Given the description of an element on the screen output the (x, y) to click on. 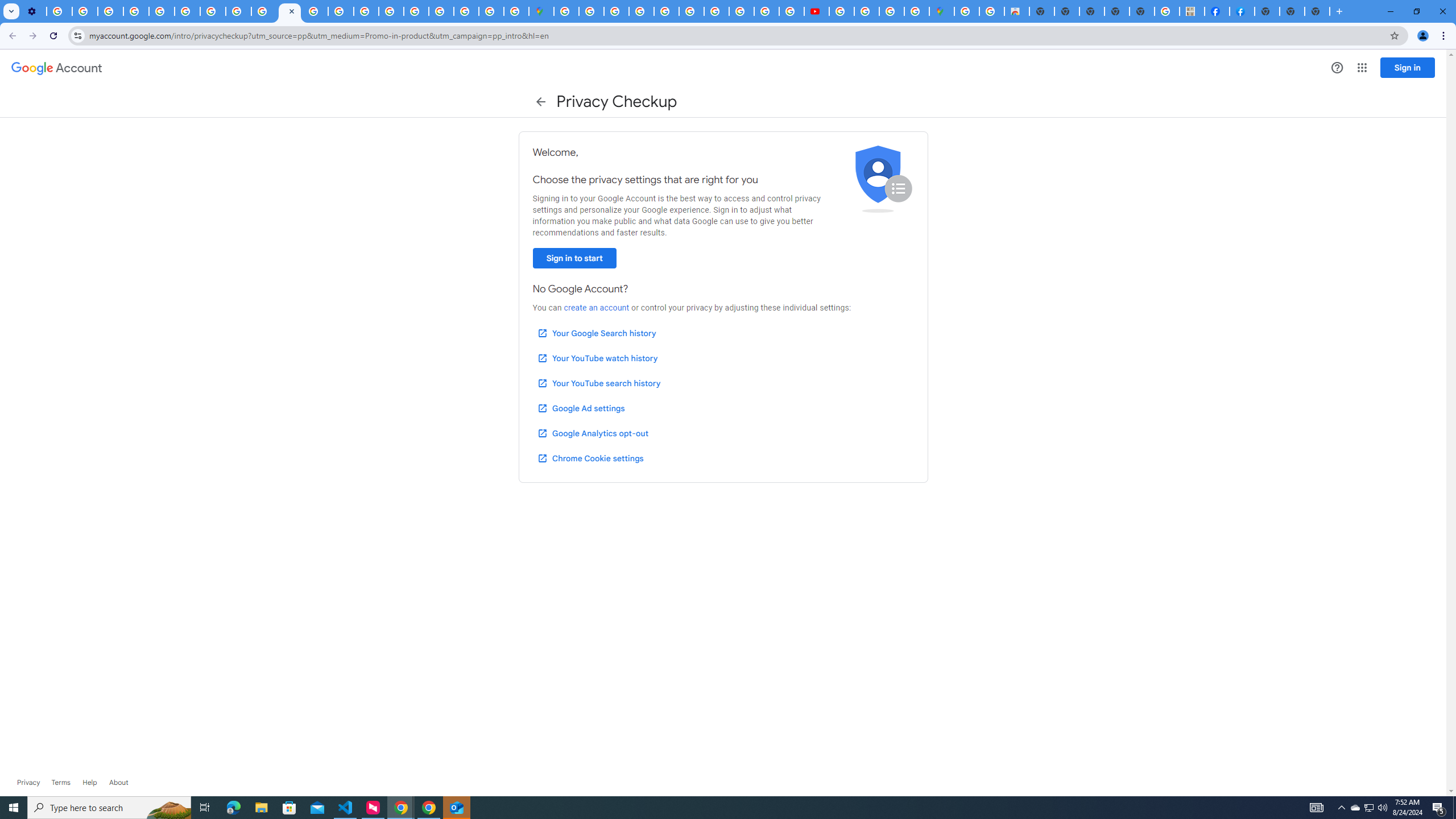
Privacy Checkup (289, 11)
Chrome Cookie settings (589, 457)
Sign in to start (573, 258)
Privacy Help Center - Policies Help (766, 11)
New Tab (1266, 11)
Privacy Help Center - Policies Help (340, 11)
